Given the description of an element on the screen output the (x, y) to click on. 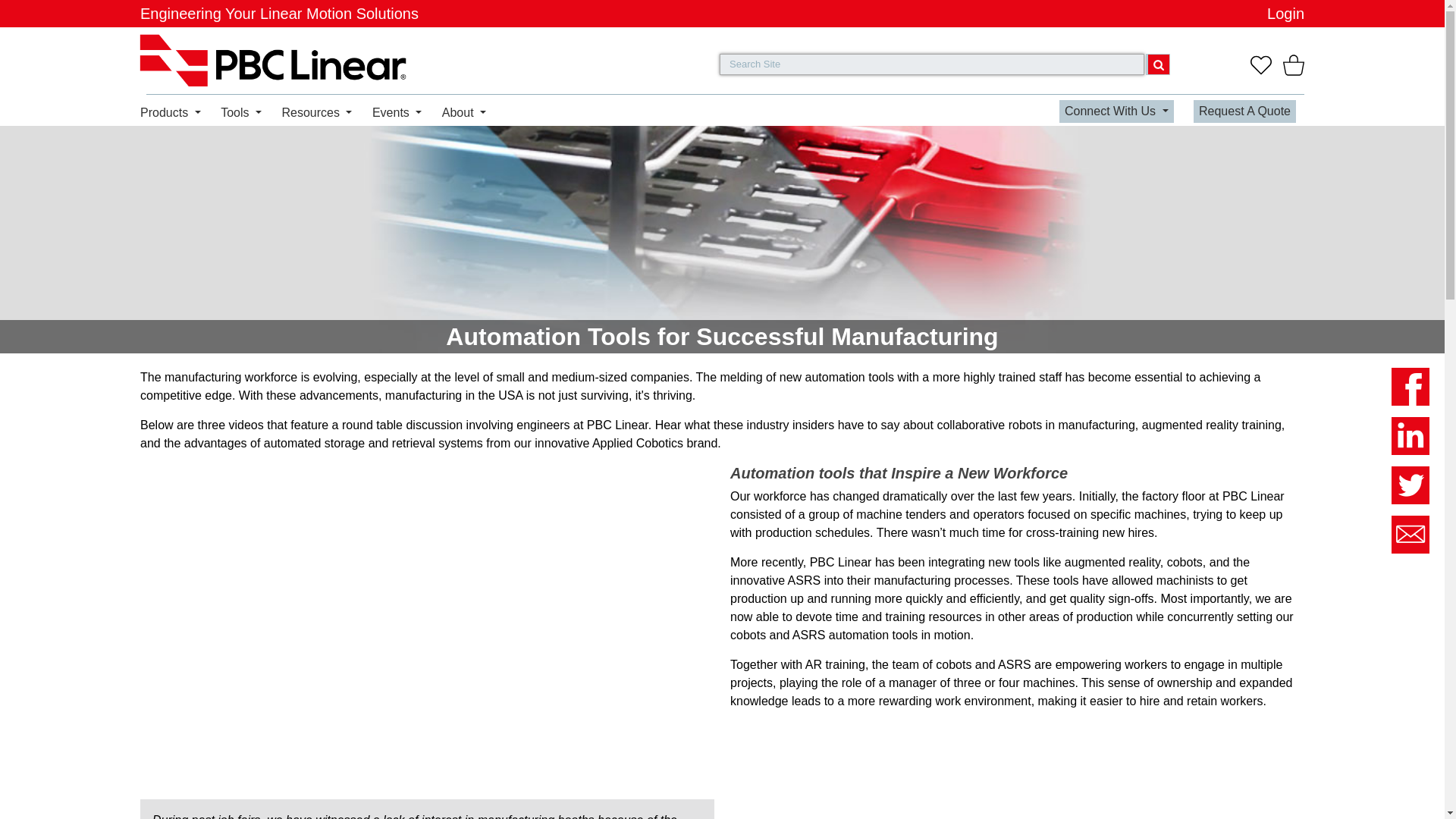
Login (1285, 13)
